Given the description of an element on the screen output the (x, y) to click on. 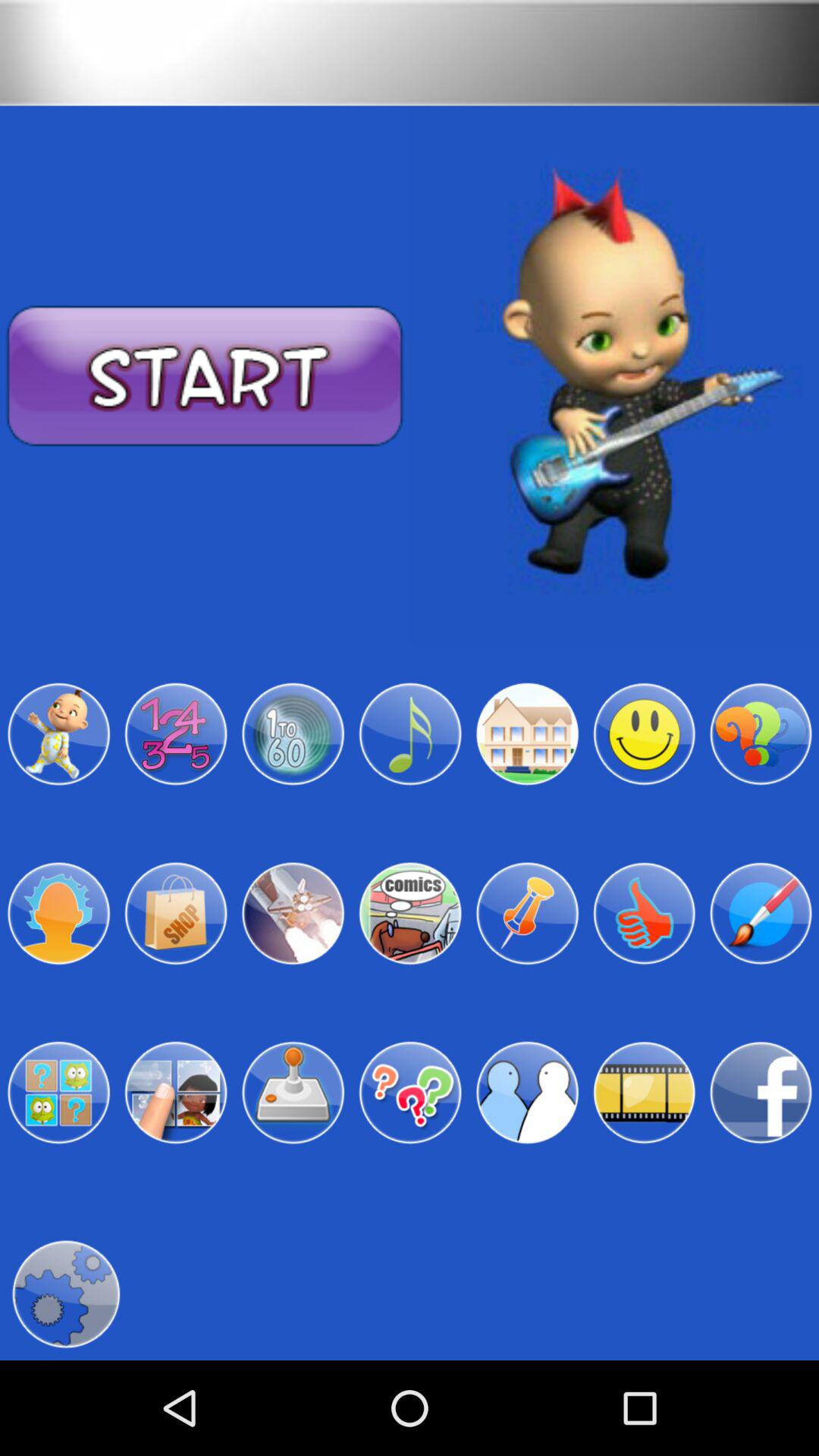
pick that item (175, 913)
